Given the description of an element on the screen output the (x, y) to click on. 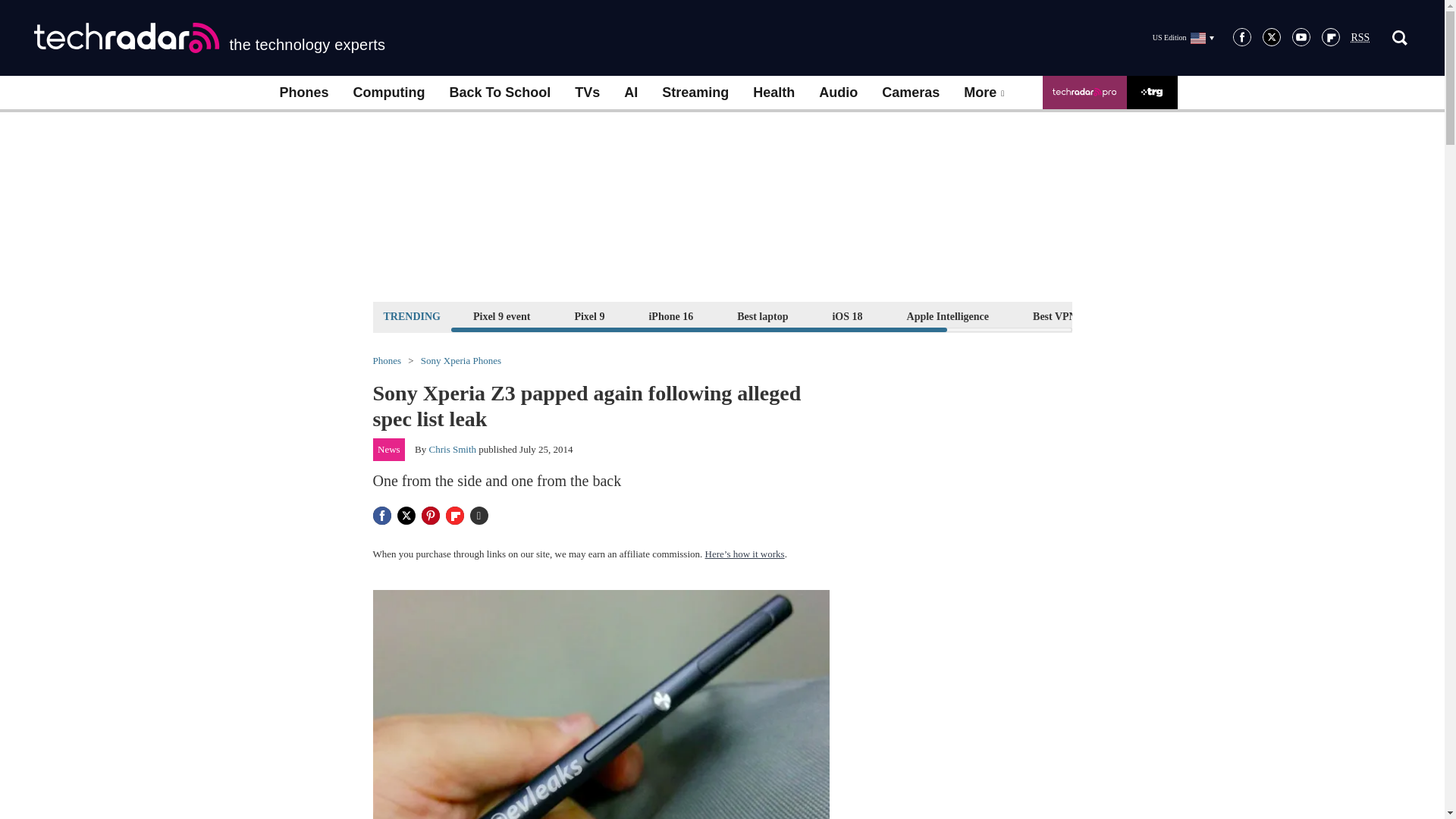
Really Simple Syndication (1360, 37)
US Edition (1182, 37)
Health (773, 92)
Phones (303, 92)
the technology experts (209, 38)
AI (630, 92)
Streaming (695, 92)
Back To School (499, 92)
Computing (389, 92)
Audio (837, 92)
